Given the description of an element on the screen output the (x, y) to click on. 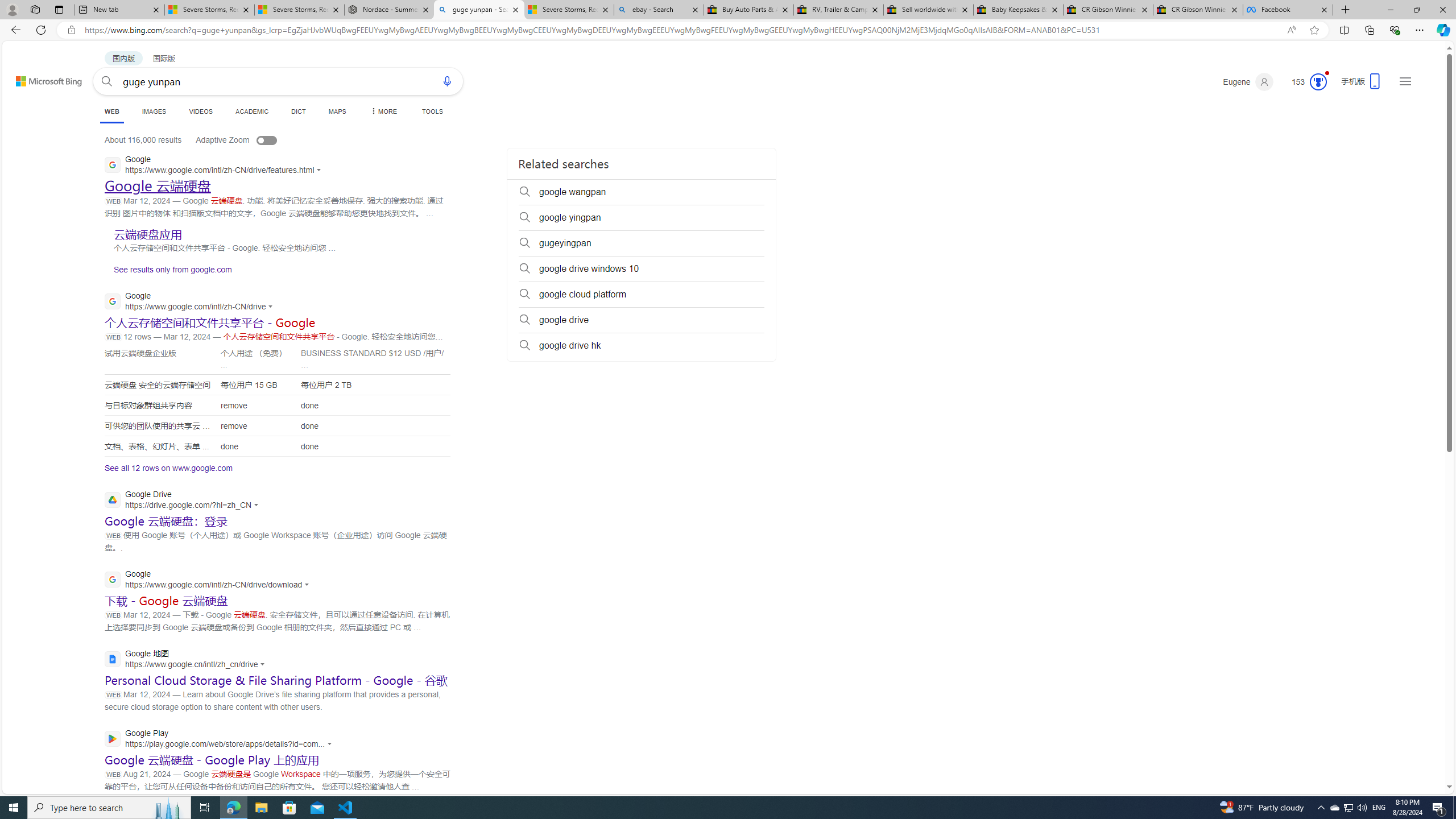
DICT (298, 111)
MAPS (336, 111)
ACADEMIC (252, 111)
Facebook (1287, 9)
Settings and quick links (1404, 80)
Google Drive (184, 500)
Split screen (1344, 29)
Search button (106, 80)
WEB (111, 112)
guge yunpan - Search (478, 9)
Adaptive Zoom (248, 139)
gugeyingpan (641, 242)
